Given the description of an element on the screen output the (x, y) to click on. 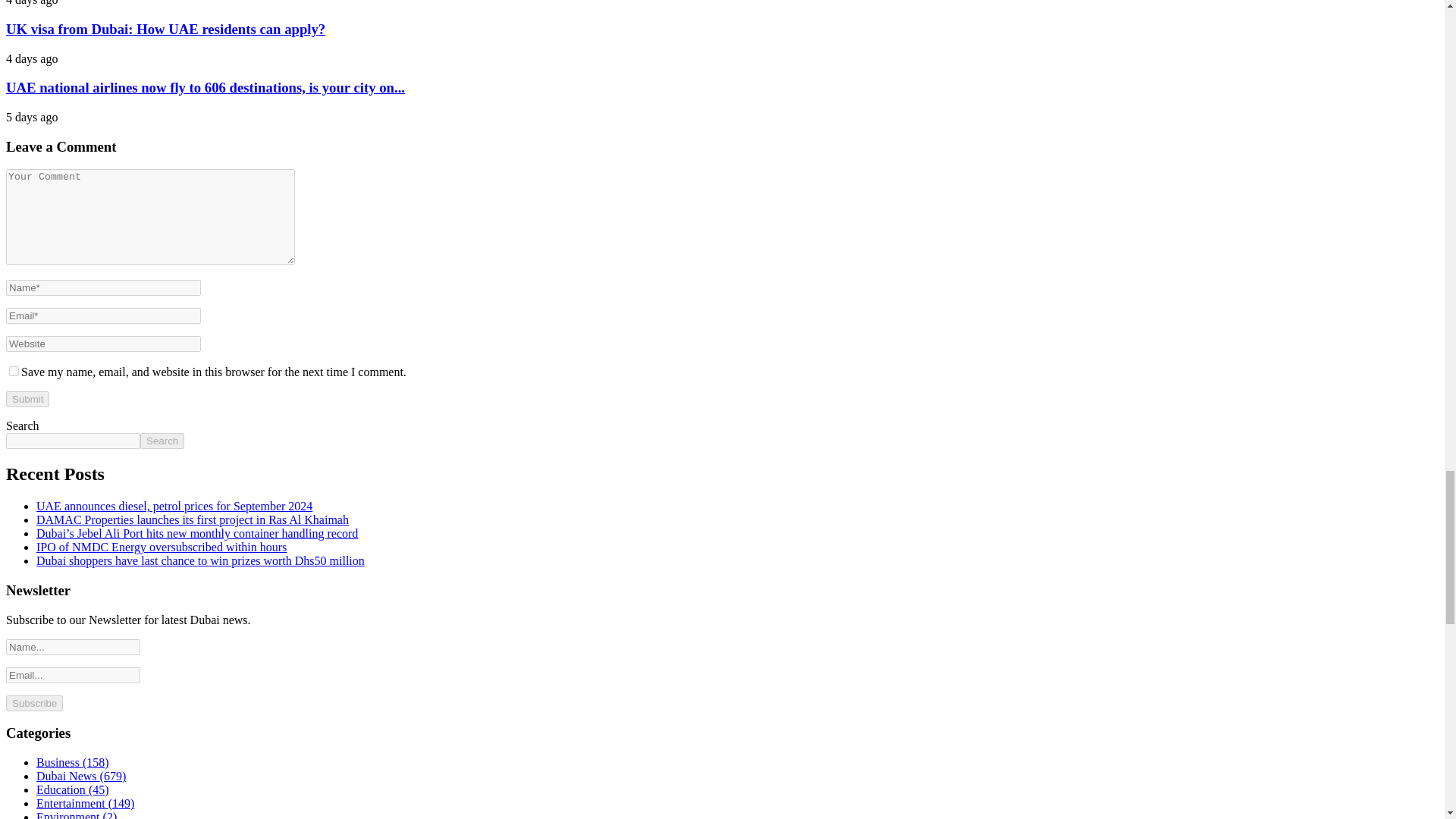
Subscribe (33, 703)
yes (13, 370)
Submit (27, 399)
